Given the description of an element on the screen output the (x, y) to click on. 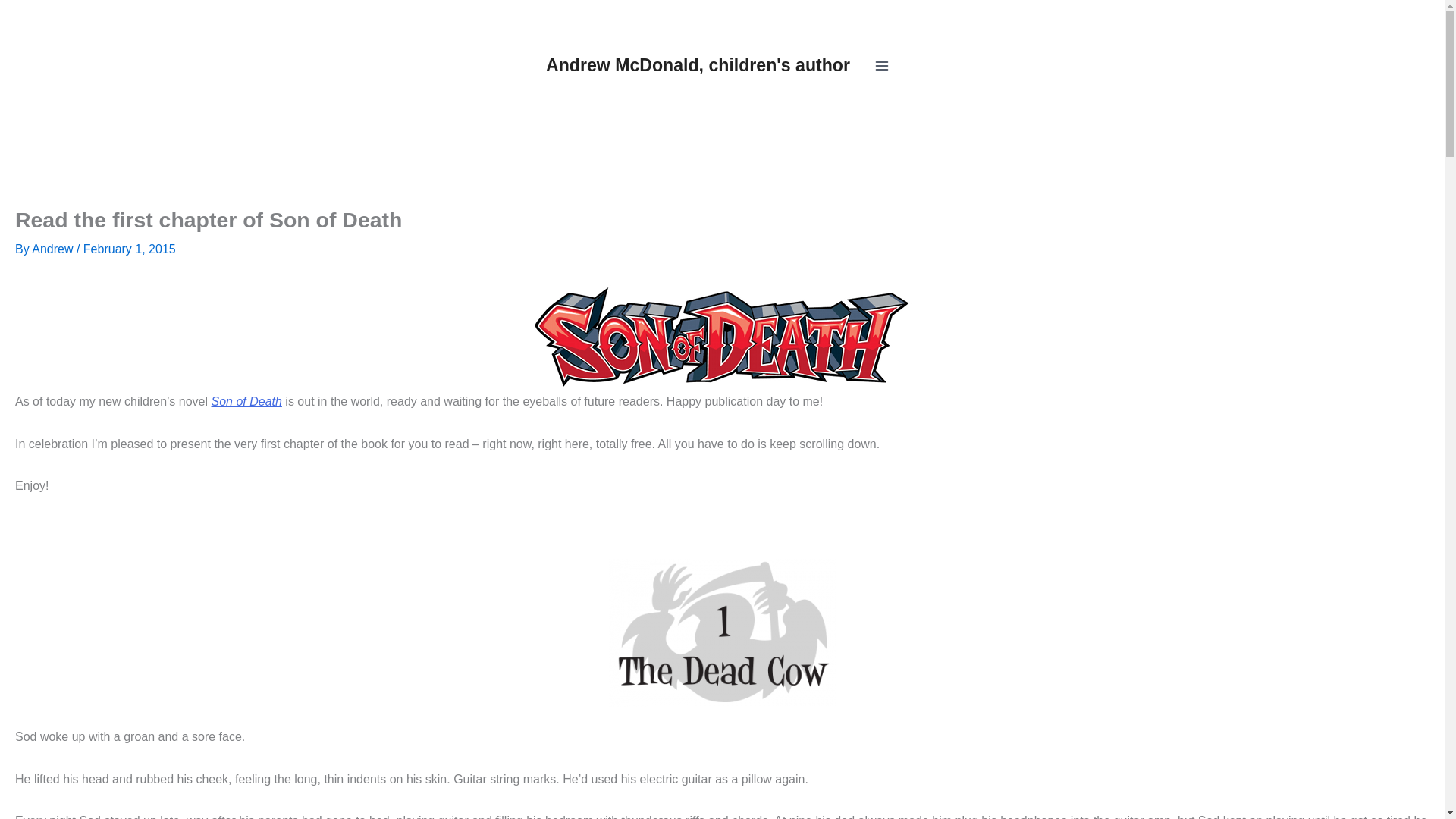
View all posts by Andrew (54, 248)
Andrew (54, 248)
Andrew McDonald, children's author (698, 65)
Son of Death (246, 400)
